Given the description of an element on the screen output the (x, y) to click on. 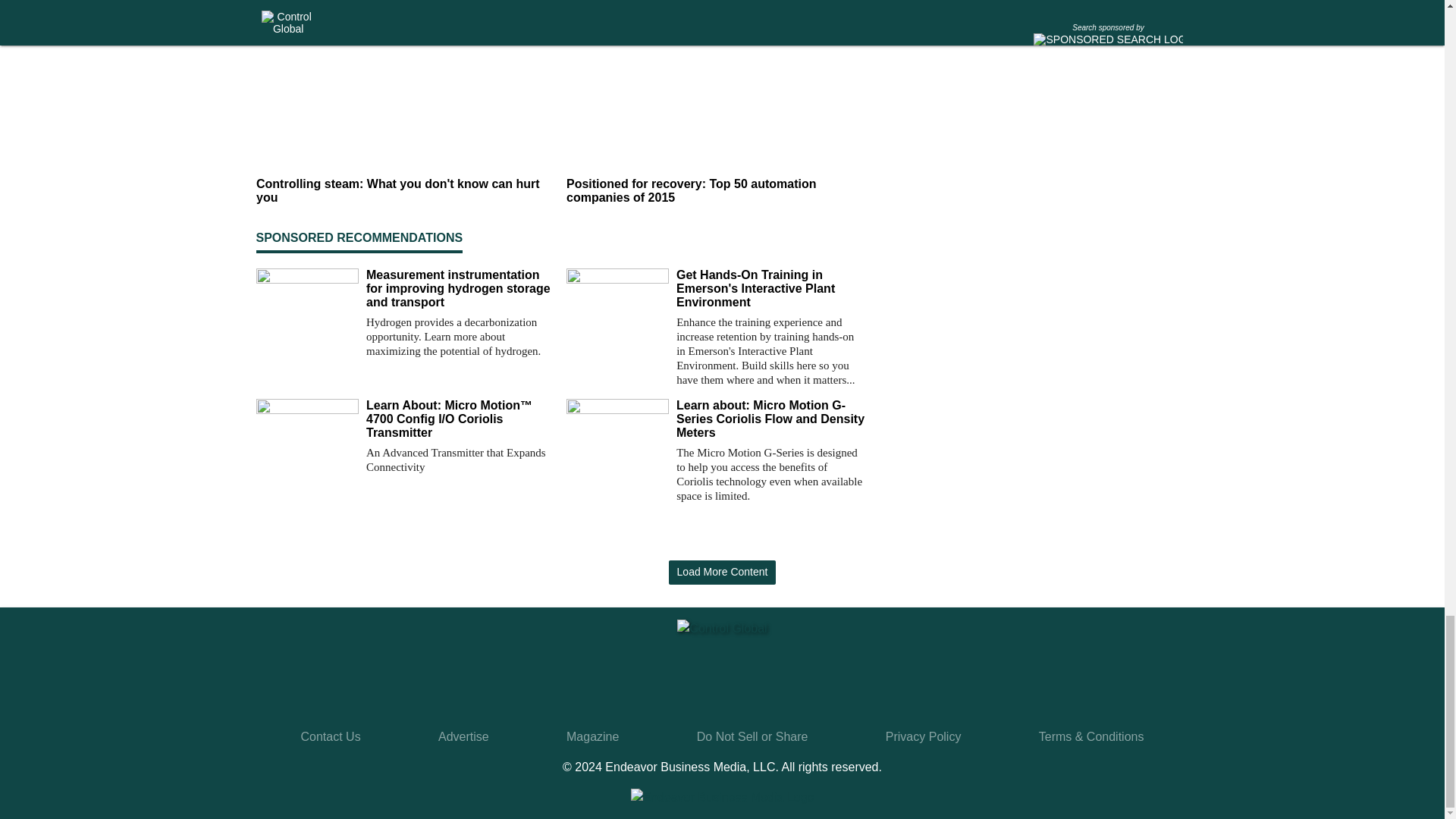
Controlling steam: What you don't know can hurt you (405, 191)
Positioned for recovery: Top 50 automation companies of 2015 (715, 191)
